Given the description of an element on the screen output the (x, y) to click on. 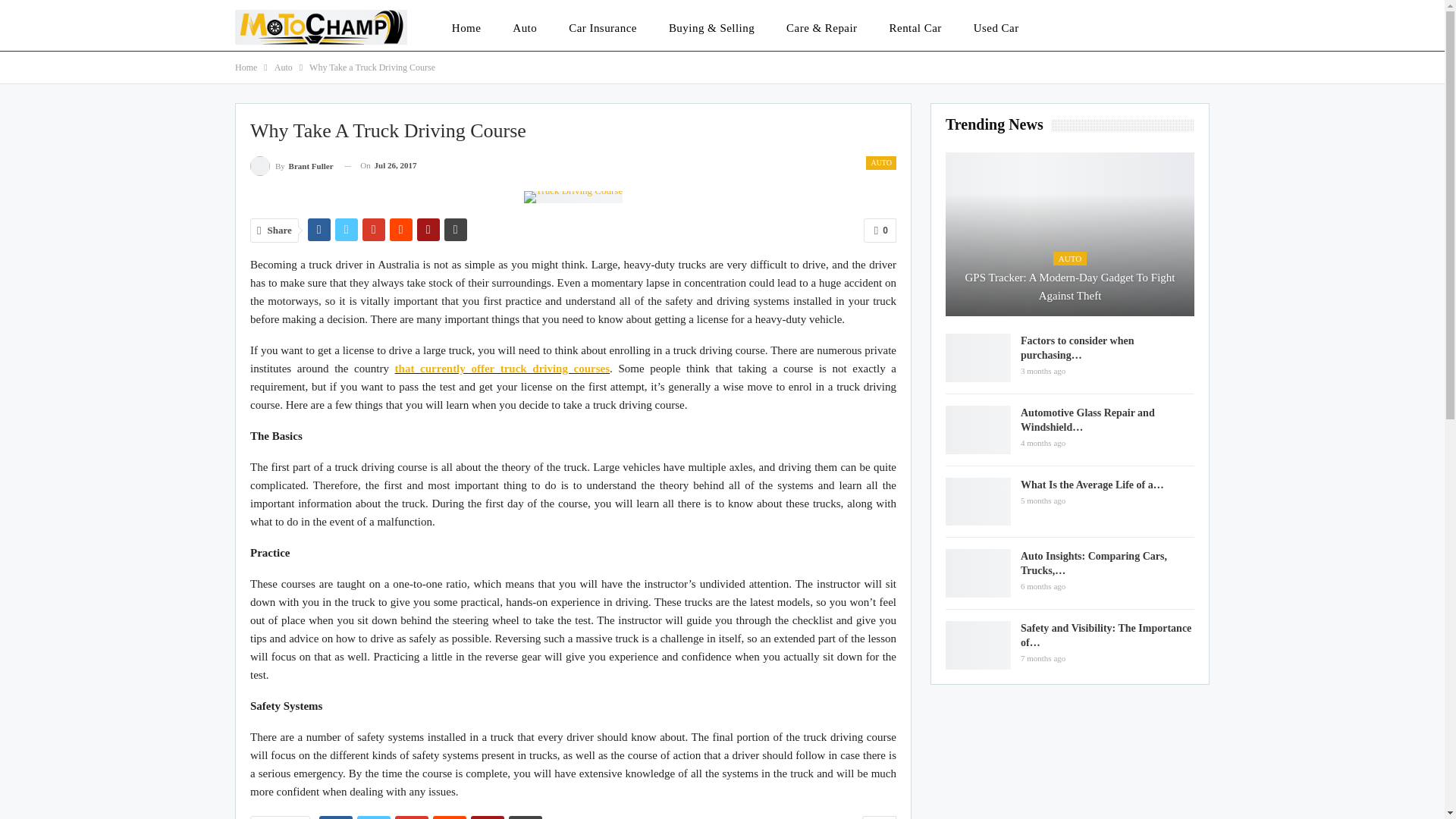
that currently offer truck driving courses (502, 368)
0 (878, 817)
Home (466, 27)
Auto (524, 27)
Browse Author Articles (291, 165)
Auto (283, 67)
By Brant Fuller (291, 165)
AUTO (881, 162)
Used Car (995, 27)
Home (245, 67)
